Given the description of an element on the screen output the (x, y) to click on. 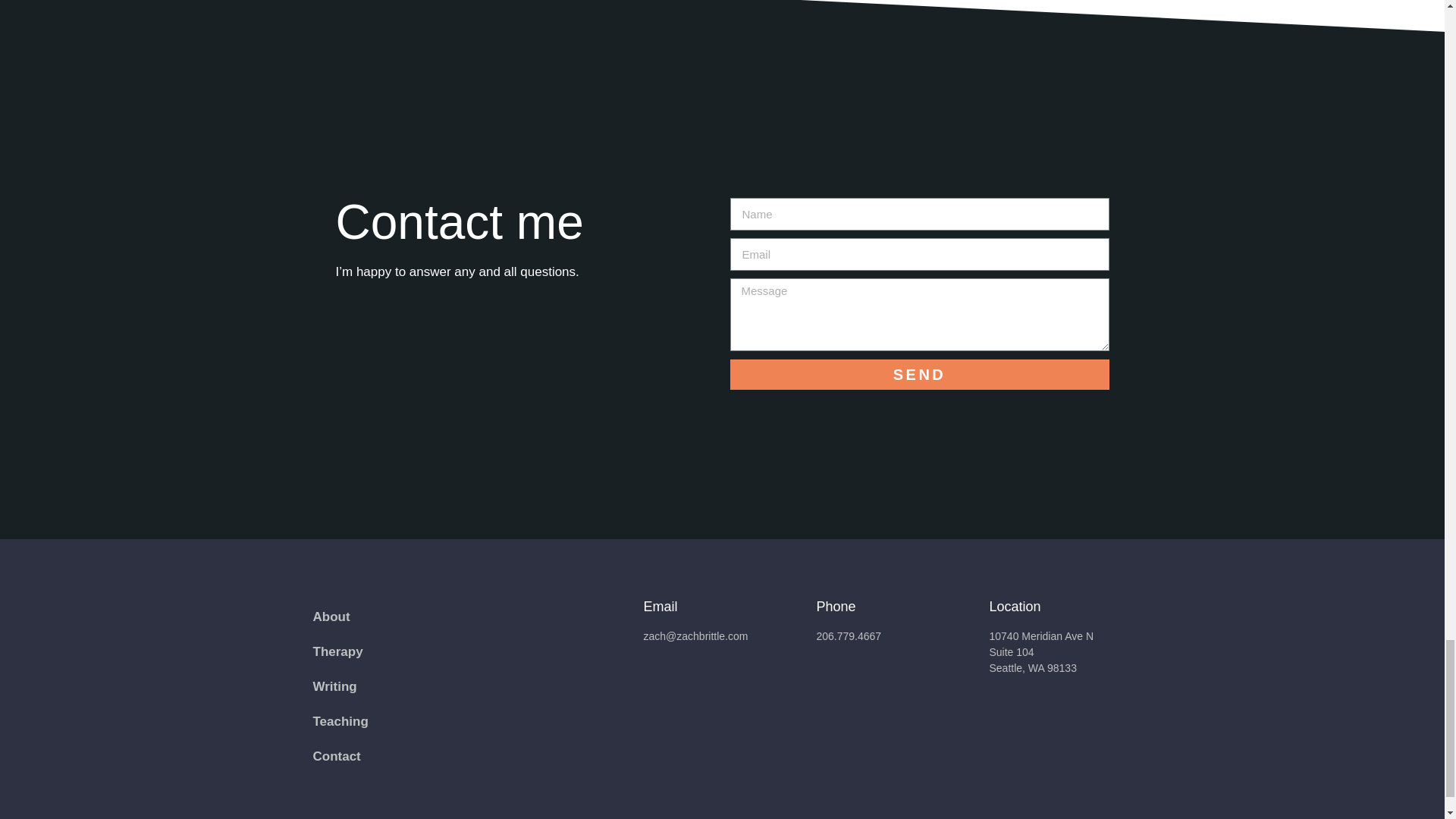
About (331, 616)
Writing (334, 686)
Therapy (337, 651)
Contact (336, 756)
SEND (918, 374)
Teaching (339, 721)
